Given the description of an element on the screen output the (x, y) to click on. 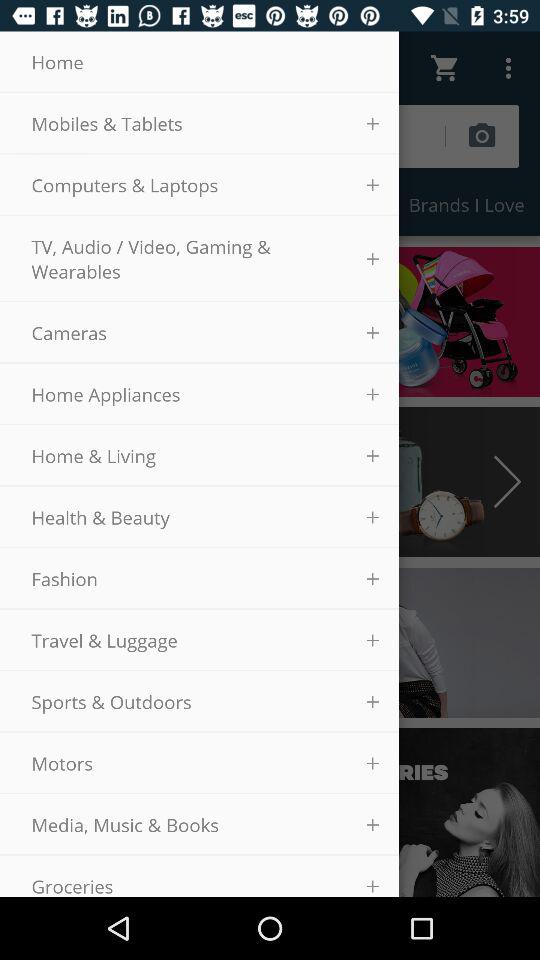
click on add more symbol which is on right of groceries (373, 886)
